Given the description of an element on the screen output the (x, y) to click on. 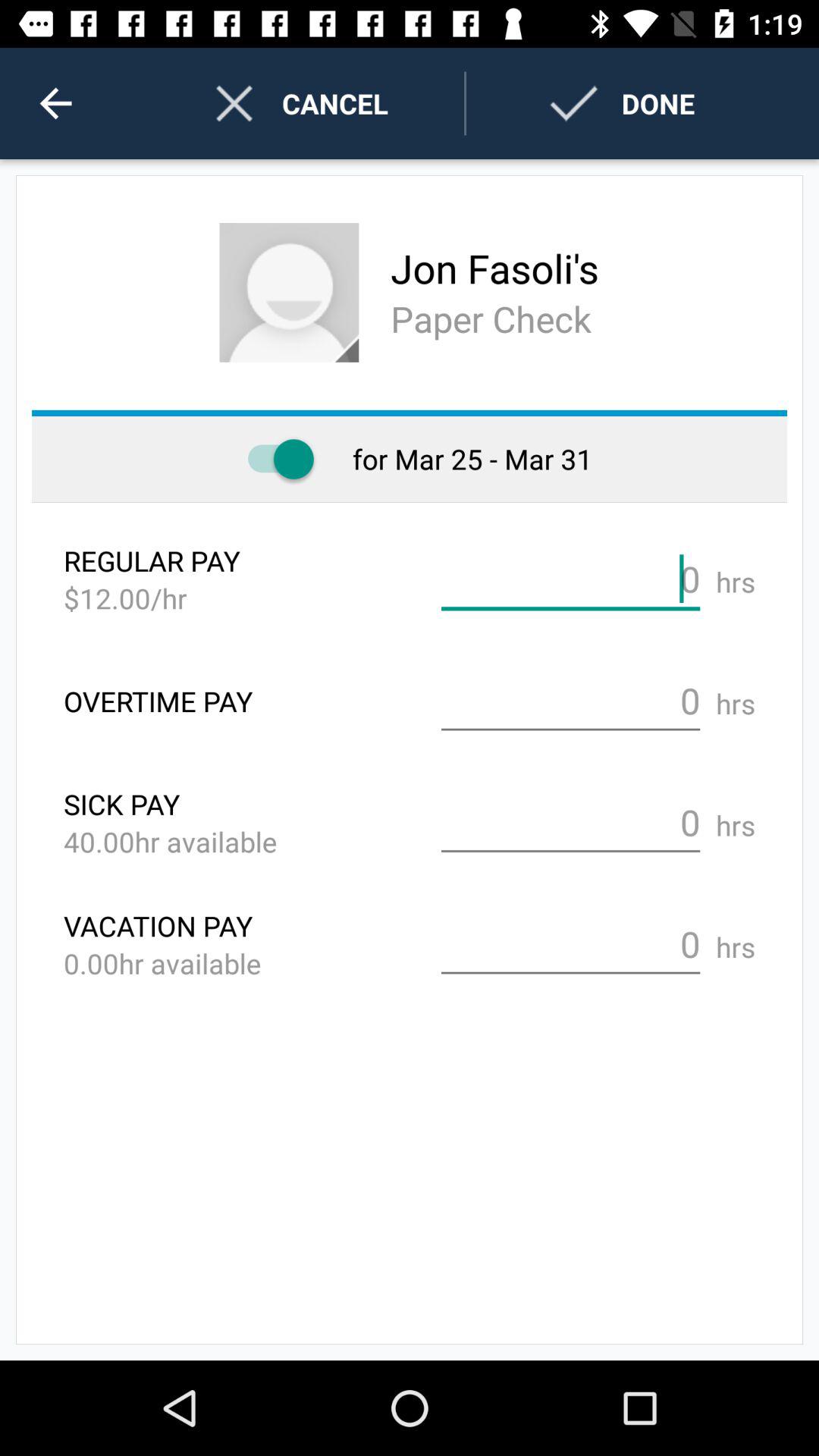
turn off item to the left of the jon fasoli's item (288, 292)
